Given the description of an element on the screen output the (x, y) to click on. 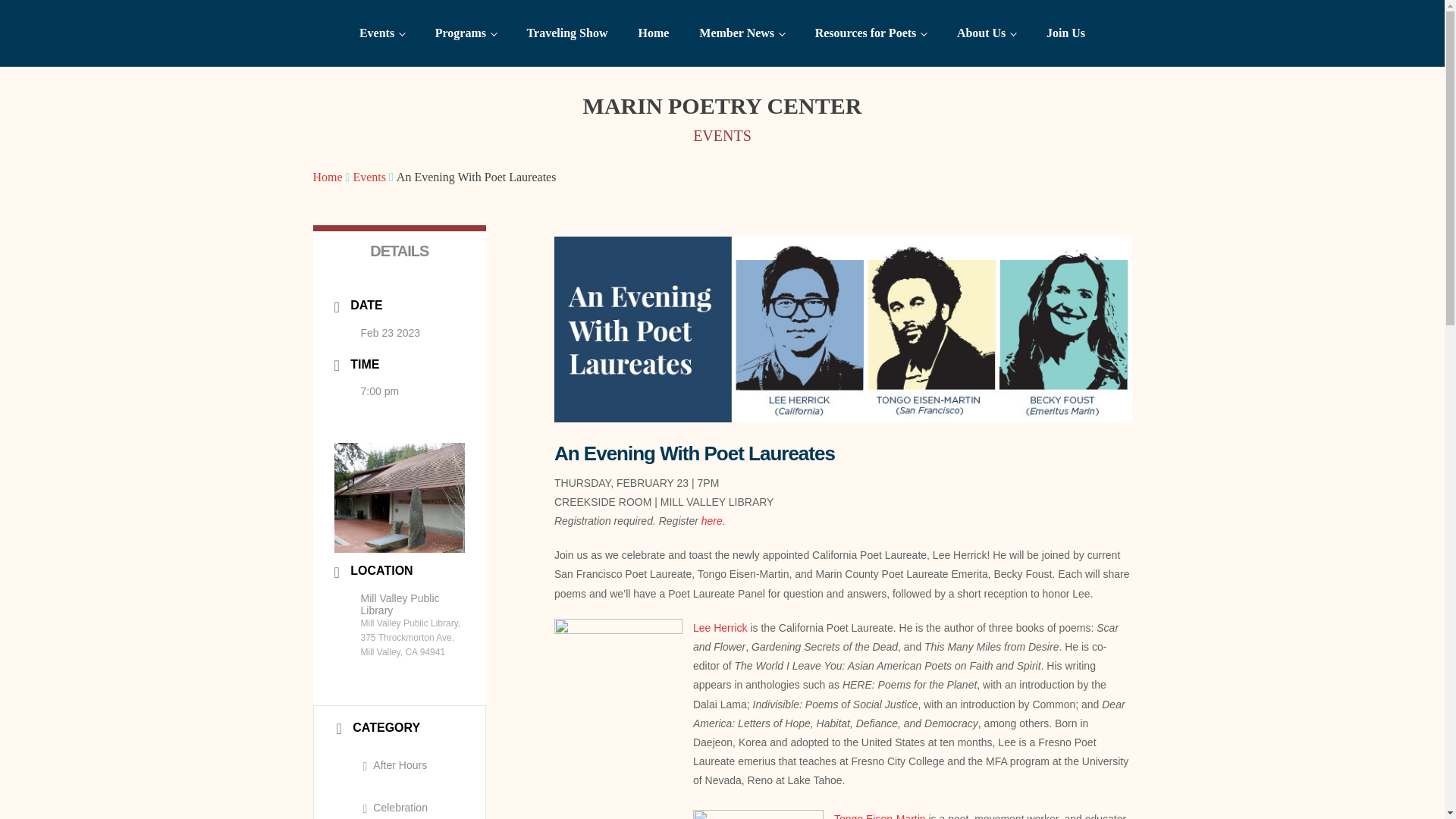
Member News (741, 33)
Home (653, 33)
Events (381, 33)
About Us (986, 33)
Resources for Poets (870, 33)
Programs (466, 33)
Traveling Show (567, 33)
Join Us (1065, 33)
